Given the description of an element on the screen output the (x, y) to click on. 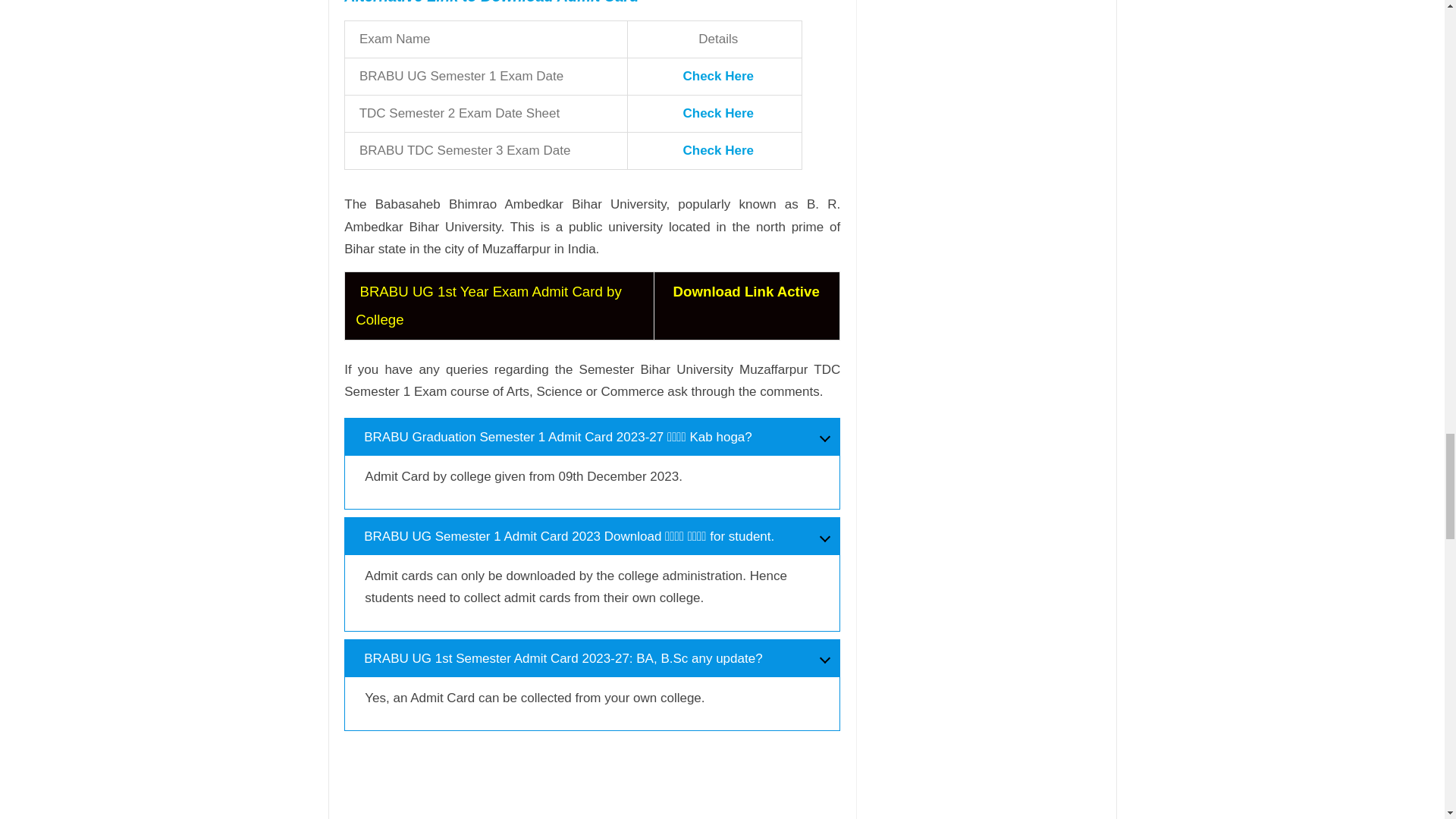
Check Here (718, 113)
Check Here (718, 150)
Check Here (718, 75)
Alternative Link to Download Admit Card  (493, 2)
